Given the description of an element on the screen output the (x, y) to click on. 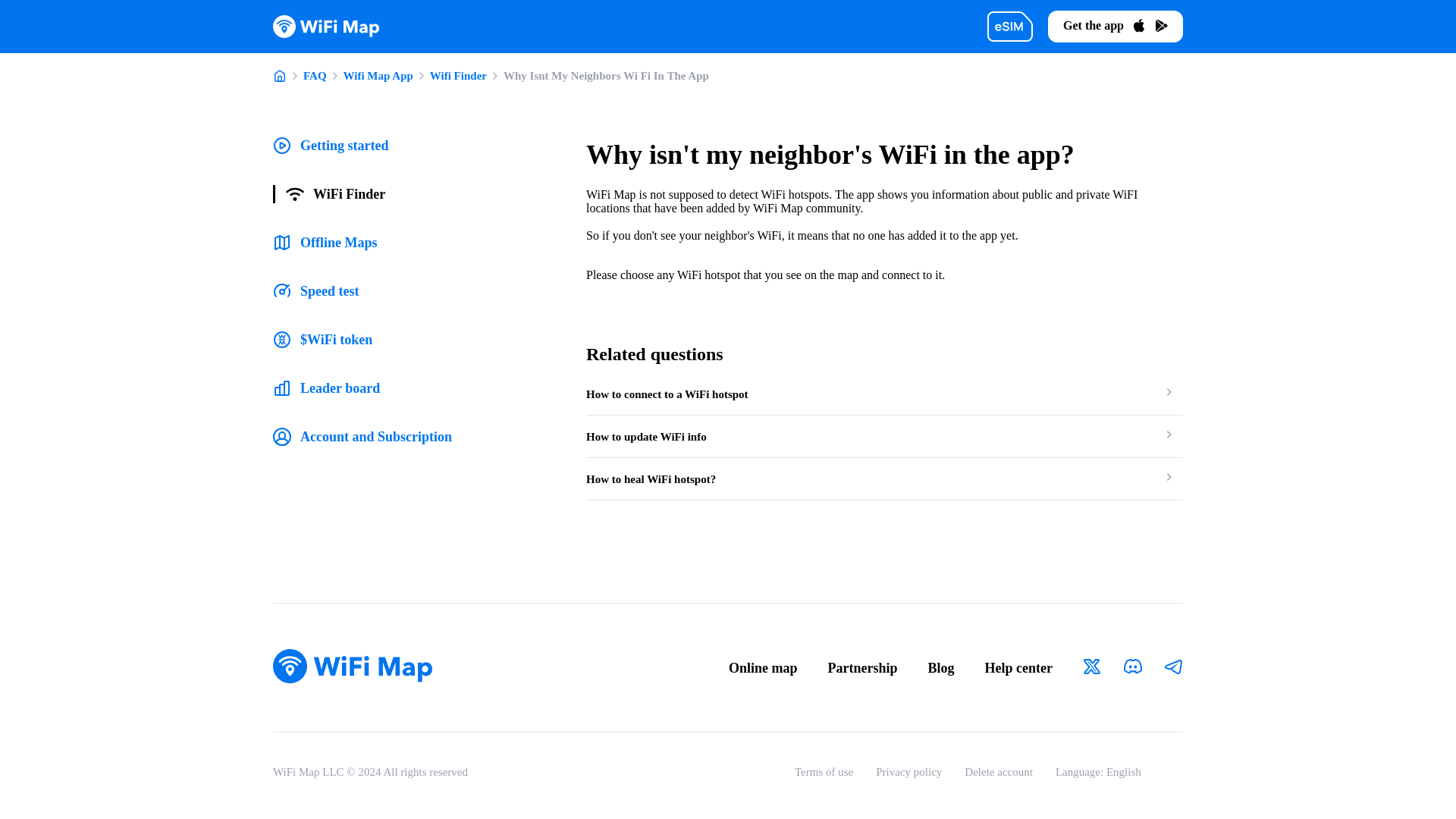
Get the app (1115, 26)
Getting started (330, 145)
FAQ (314, 75)
WiFi Finder (329, 194)
Why Isnt My Neighbors Wi Fi In The App (606, 75)
Online map (763, 667)
Wifi Finder (457, 75)
Offline Maps (325, 242)
Blog (941, 667)
Terms of use (823, 771)
Privacy policy (909, 771)
Delete account (997, 771)
Wifi Map App (378, 75)
Partnership (863, 667)
Account and Subscription (362, 436)
